Given the description of an element on the screen output the (x, y) to click on. 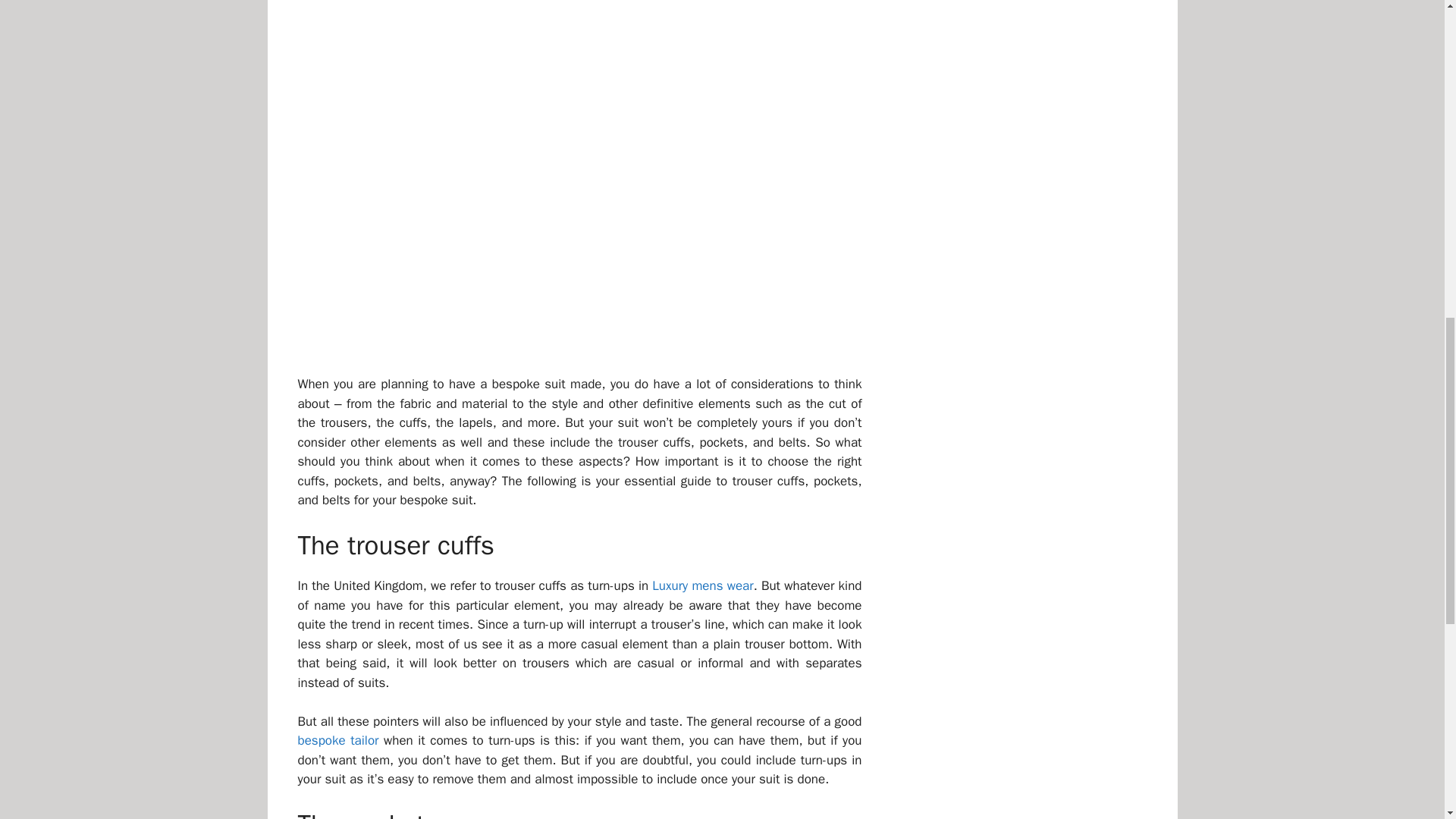
Luxury mens wear (702, 585)
bespoke tailor (337, 740)
